Given the description of an element on the screen output the (x, y) to click on. 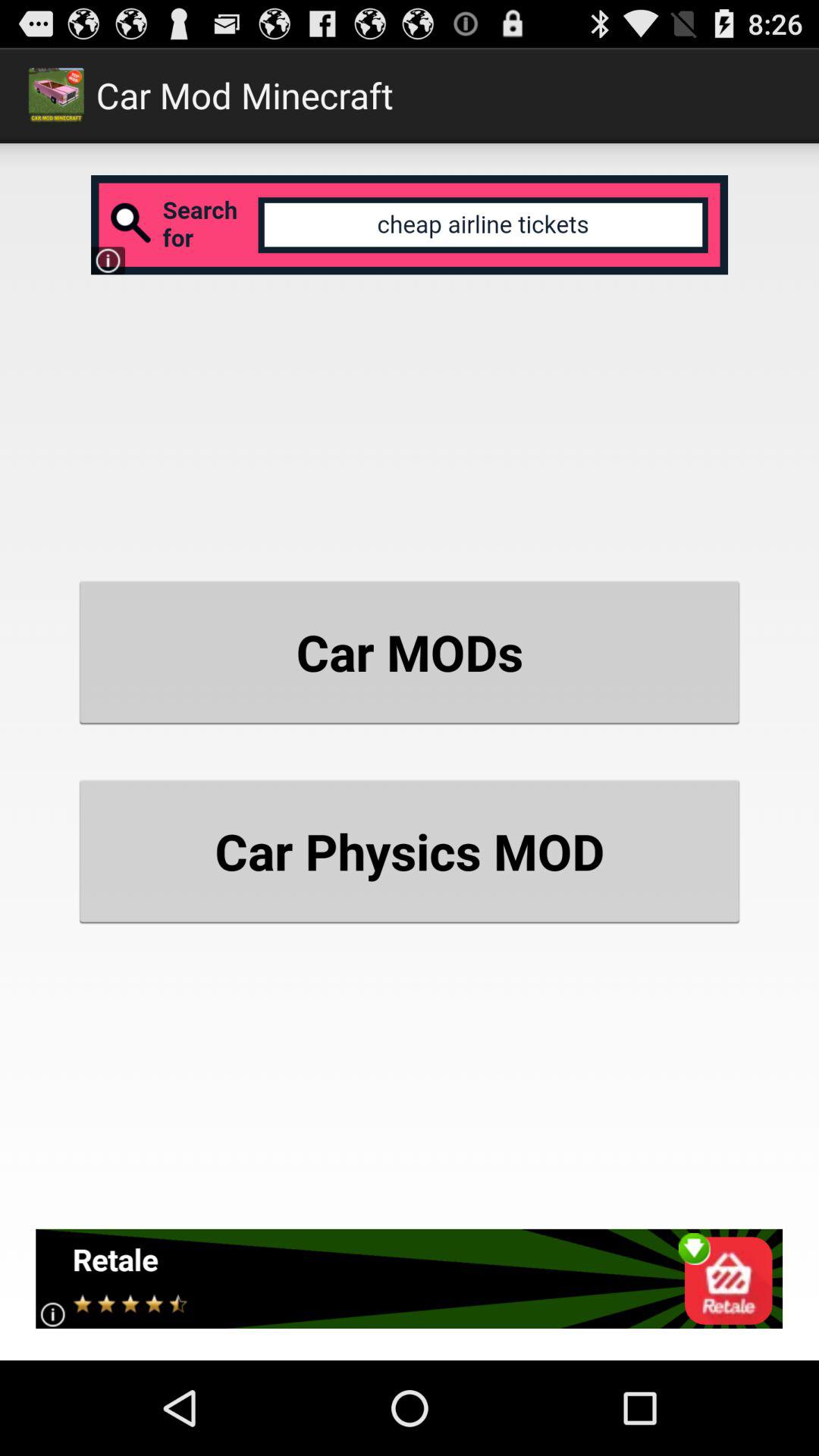
press the car mods (409, 651)
